Given the description of an element on the screen output the (x, y) to click on. 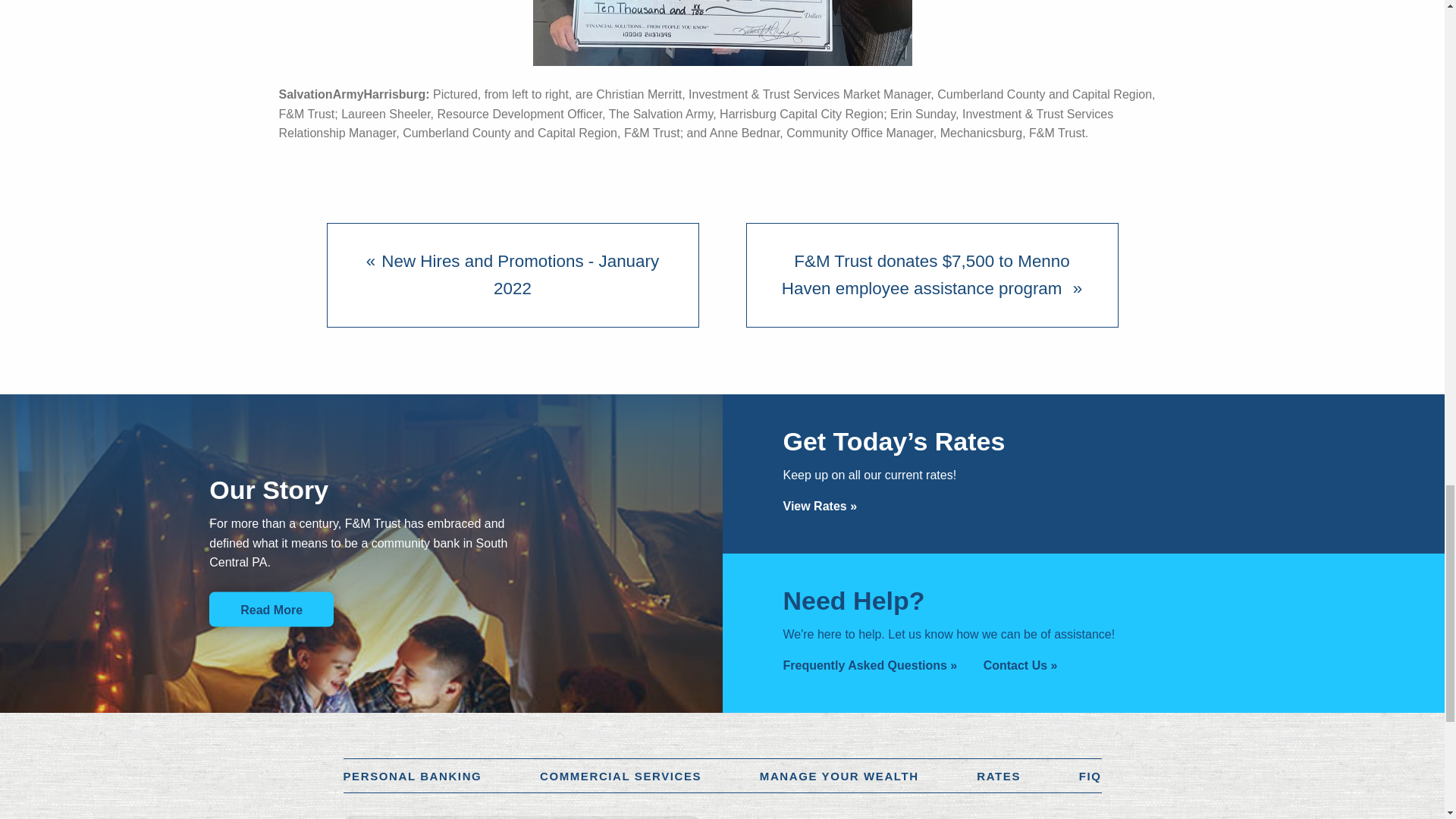
Read More (271, 608)
Our Story (271, 608)
COMMERCIAL SERVICES (620, 776)
Frequently Asked Questions (869, 665)
Rates (820, 505)
MANAGE YOUR WEALTH (839, 776)
PERSONAL BANKING (411, 776)
RATES (998, 776)
New Hires and Promotions - January 2022 (512, 274)
Contact (1021, 665)
